Given the description of an element on the screen output the (x, y) to click on. 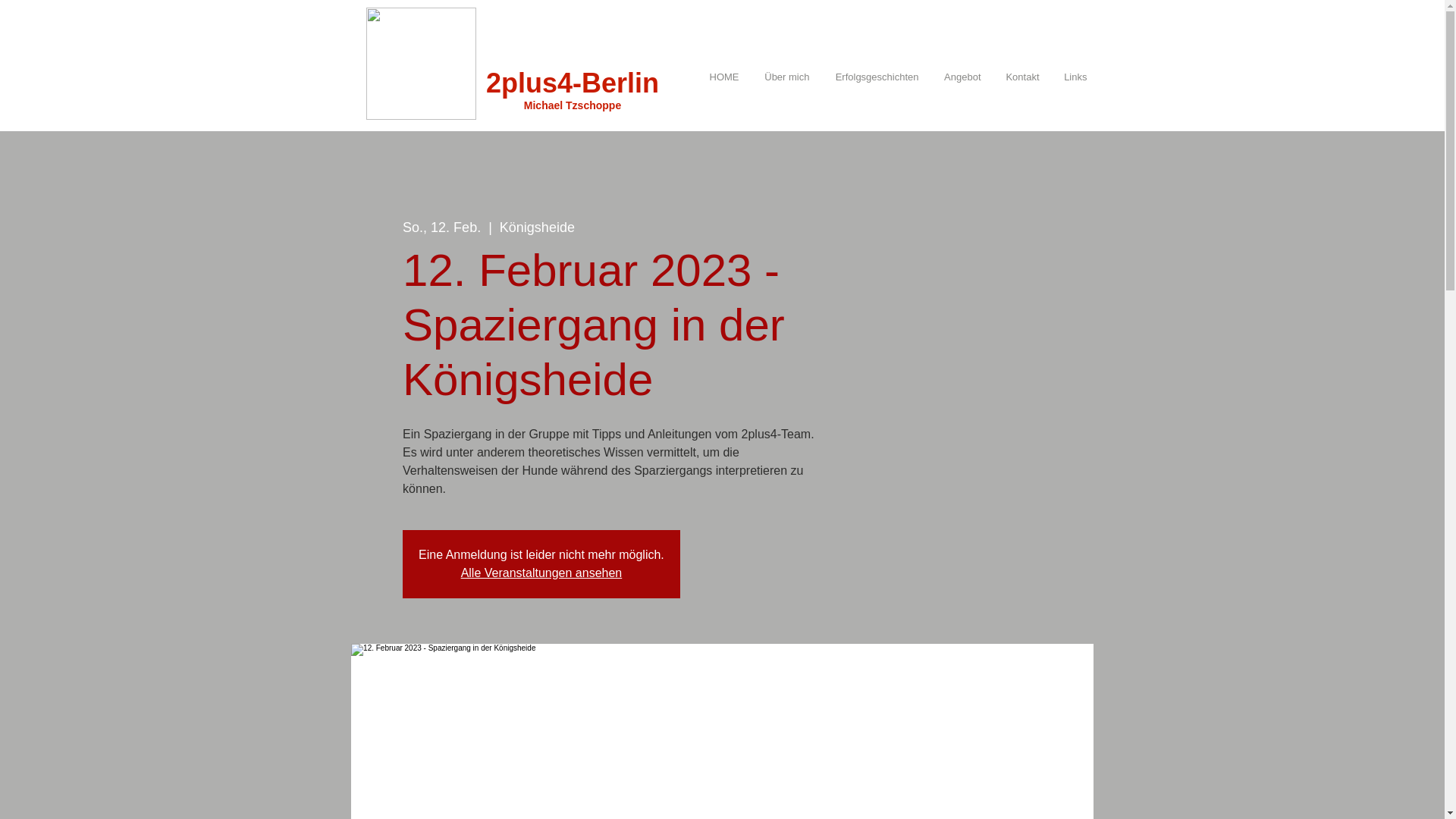
Erfolgsgeschichten Element type: text (871, 76)
Links Element type: text (1071, 76)
Alle Veranstaltungen ansehen Element type: text (541, 572)
HOME Element type: text (718, 76)
Kontakt Element type: text (1017, 76)
Logo_2plus4_LL_final.jpg Element type: hover (420, 63)
Angebot Element type: text (957, 76)
